Given the description of an element on the screen output the (x, y) to click on. 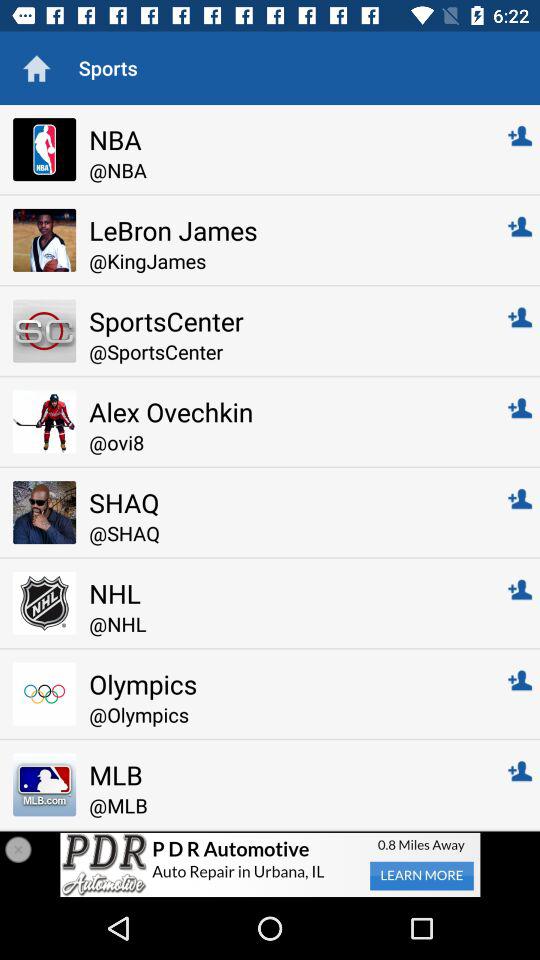
site home (36, 68)
